Given the description of an element on the screen output the (x, y) to click on. 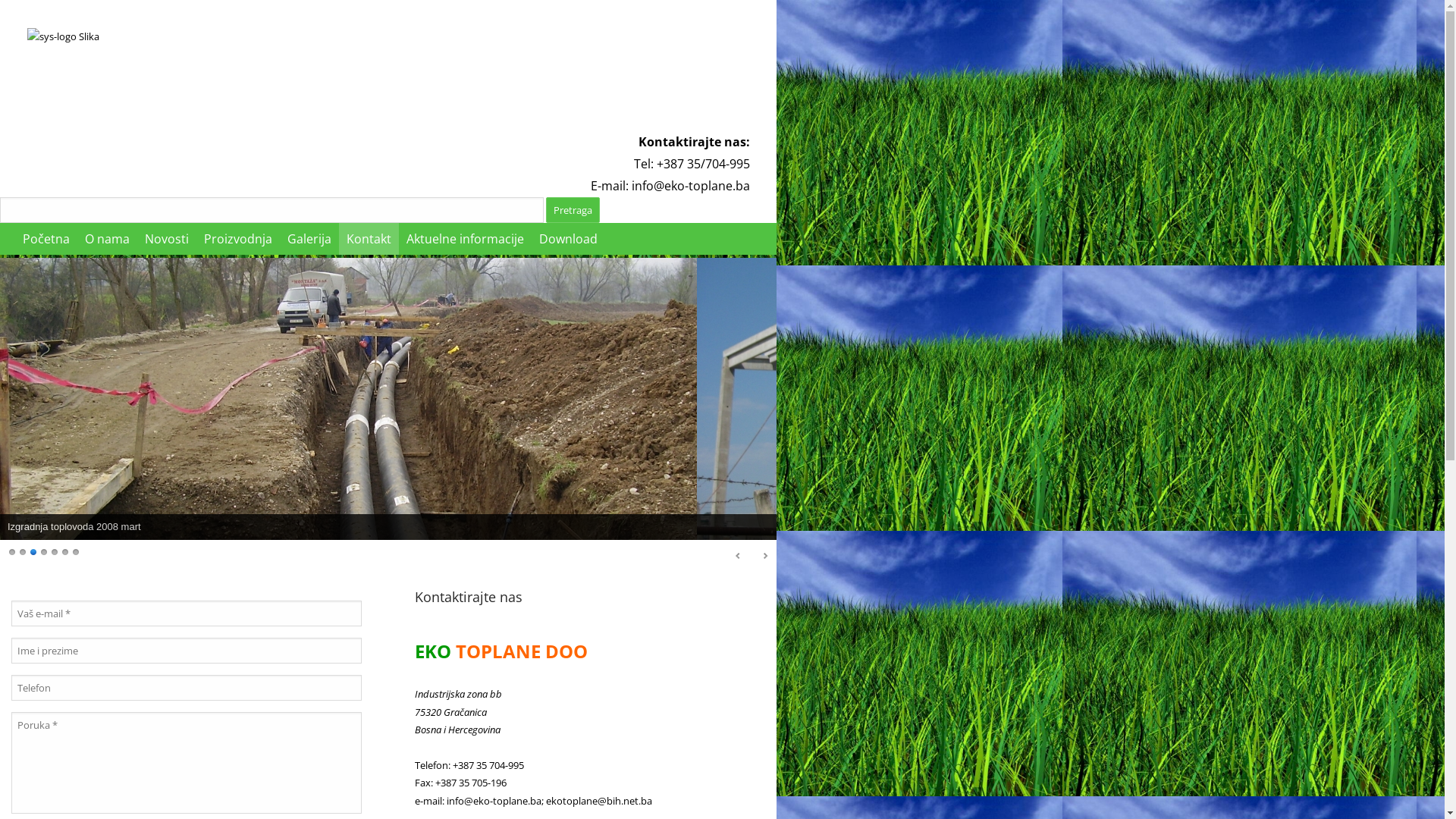
Download Element type: text (568, 238)
Kontakt Element type: text (368, 238)
1 Element type: text (12, 551)
7 Element type: text (76, 551)
Pretraga Element type: text (572, 209)
4 Element type: text (44, 551)
2 Element type: text (23, 551)
O nama Element type: text (106, 238)
5 Element type: text (55, 551)
Novosti Element type: text (166, 238)
Galerija Element type: text (309, 238)
3 Element type: text (33, 551)
Proizvodnja Element type: text (237, 238)
6 Element type: text (65, 551)
Aktuelne informacije Element type: text (465, 238)
